Given the description of an element on the screen output the (x, y) to click on. 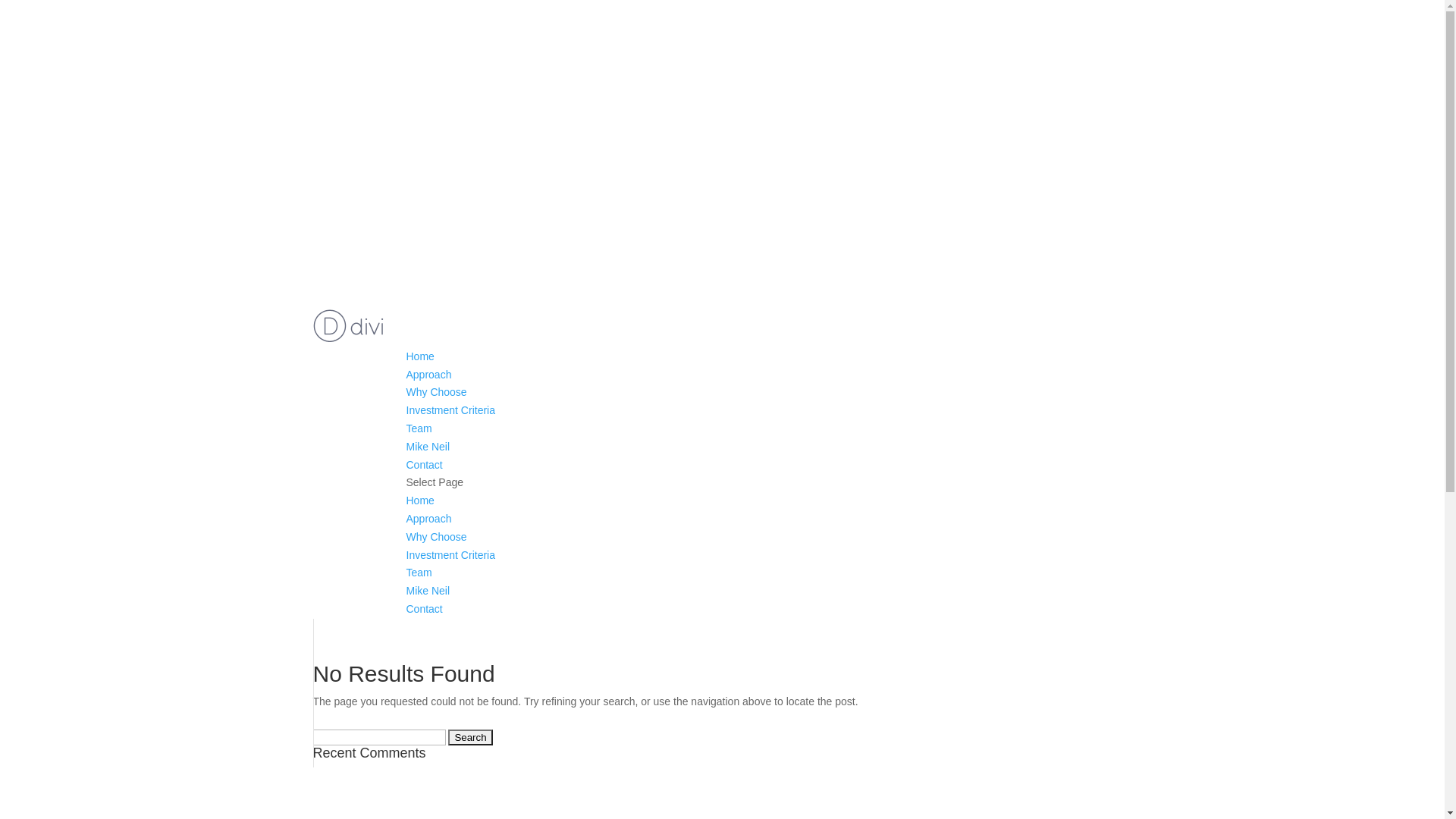
Mike Neil Element type: text (428, 446)
Contact Element type: text (424, 608)
Approach Element type: text (428, 518)
Approach Element type: text (428, 374)
Team Element type: text (419, 572)
Why Choose Element type: text (436, 391)
Contact Element type: text (424, 464)
Mike Neil Element type: text (428, 590)
Home Element type: text (420, 356)
Team Element type: text (419, 428)
Home Element type: text (420, 500)
Investment Criteria Element type: text (450, 410)
Why Choose Element type: text (436, 536)
Search Element type: text (470, 737)
Investment Criteria Element type: text (450, 555)
